Given the description of an element on the screen output the (x, y) to click on. 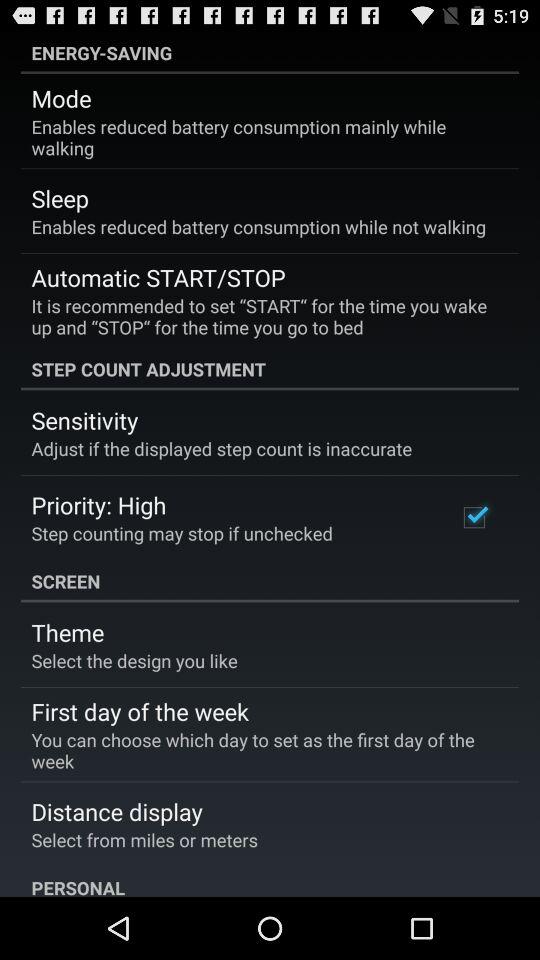
choose the automatic start/stop icon (158, 277)
